Given the description of an element on the screen output the (x, y) to click on. 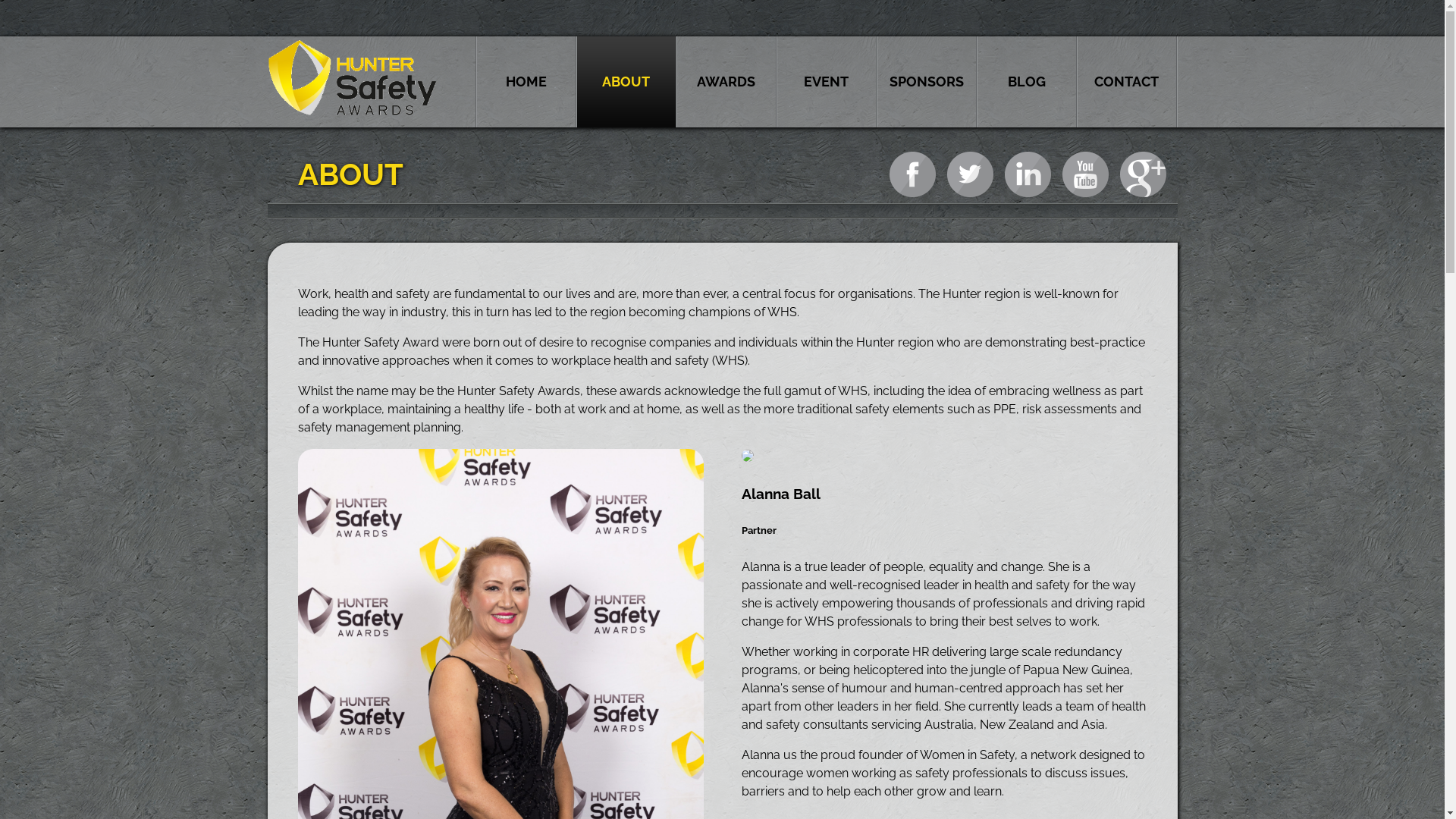
Jump to navigation Element type: text (722, 2)
HOME Element type: text (525, 81)
BLOG Element type: text (1025, 81)
Facebook Element type: hover (911, 174)
LinkedIn Element type: hover (1027, 174)
AWARDS Element type: text (725, 81)
Google+ Element type: hover (1142, 174)
EVENT Element type: text (825, 81)
Hunter Safety Awards Element type: hover (351, 111)
ABOUT Element type: text (625, 81)
SPONSORS Element type: text (925, 81)
Twitter Element type: hover (969, 174)
CONTACT Element type: text (1125, 81)
YouTube Element type: hover (1084, 174)
